Given the description of an element on the screen output the (x, y) to click on. 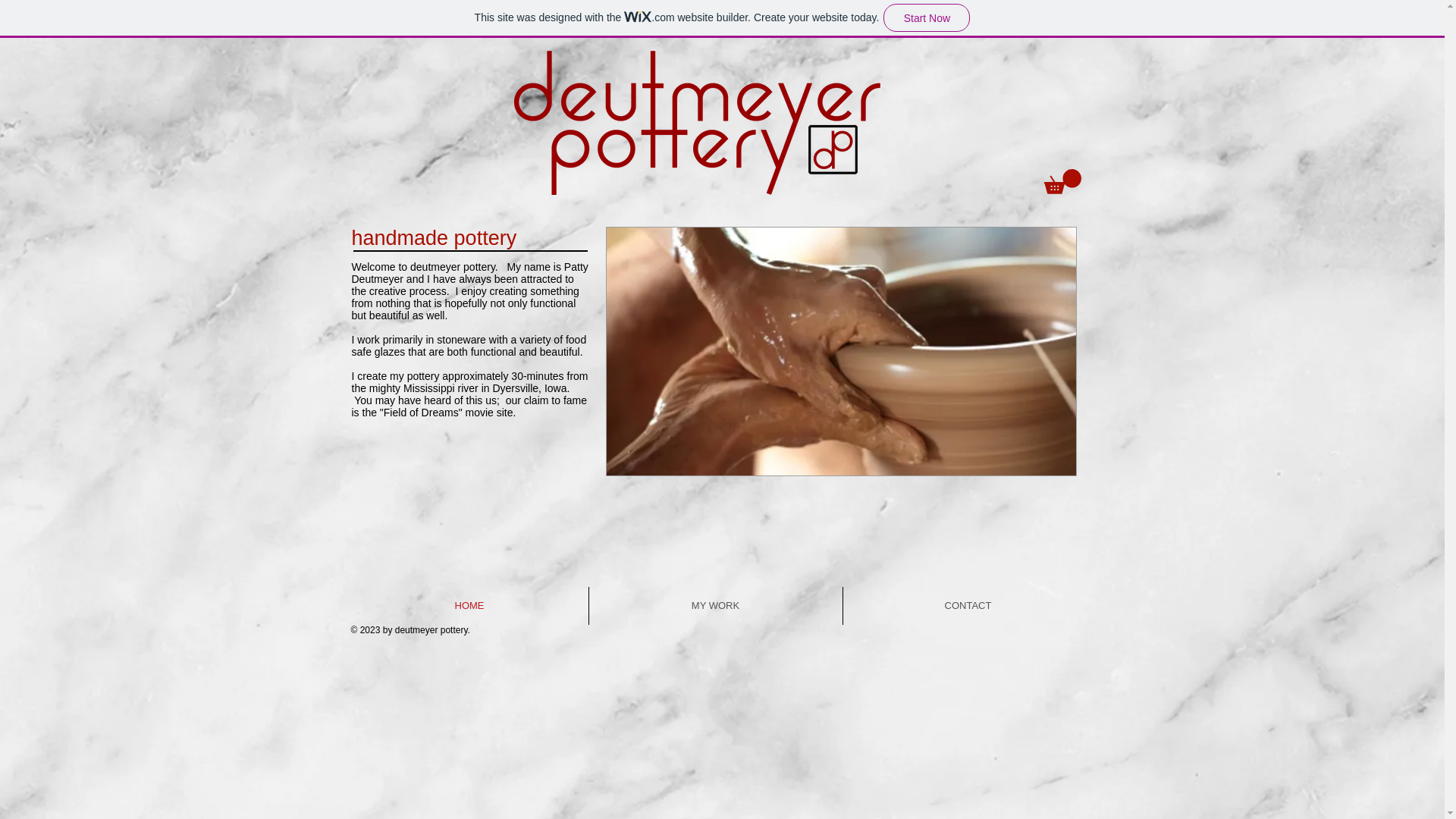
dplogo.png (696, 121)
MY WORK (714, 605)
CONTACT (968, 605)
HOME (469, 605)
